Given the description of an element on the screen output the (x, y) to click on. 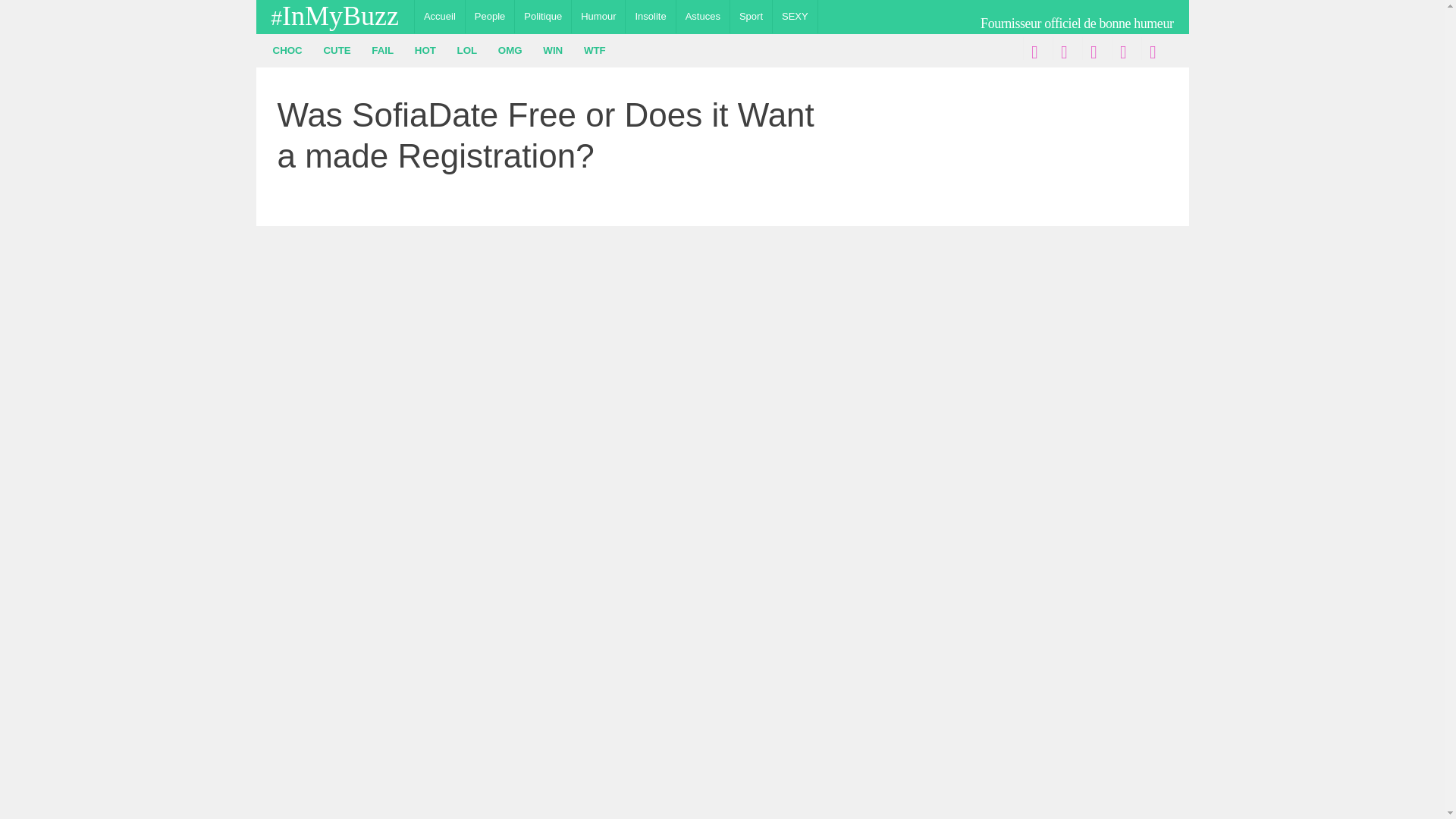
HOT (425, 50)
2 sujets (594, 50)
Humour (598, 16)
Aller au contenu (458, 16)
Suivez-moi sur Facebook (1033, 47)
WTF (594, 50)
Accueil (439, 16)
3 sujets (510, 50)
CUTE (336, 50)
Sport (750, 16)
2 sujets (553, 50)
WIN (553, 50)
Astuces (703, 16)
1 sujet (425, 50)
CHOC (287, 50)
